Given the description of an element on the screen output the (x, y) to click on. 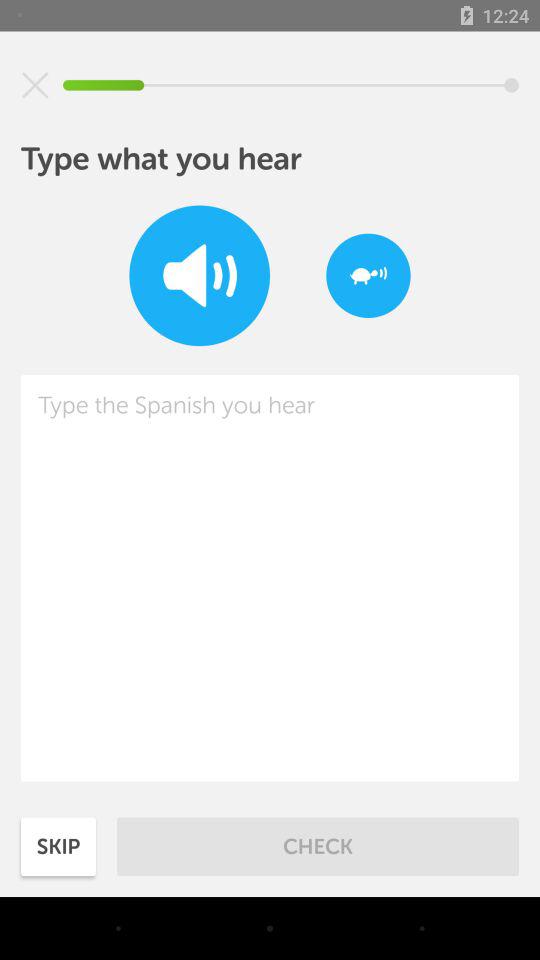
turn on item above the type what you item (35, 85)
